Given the description of an element on the screen output the (x, y) to click on. 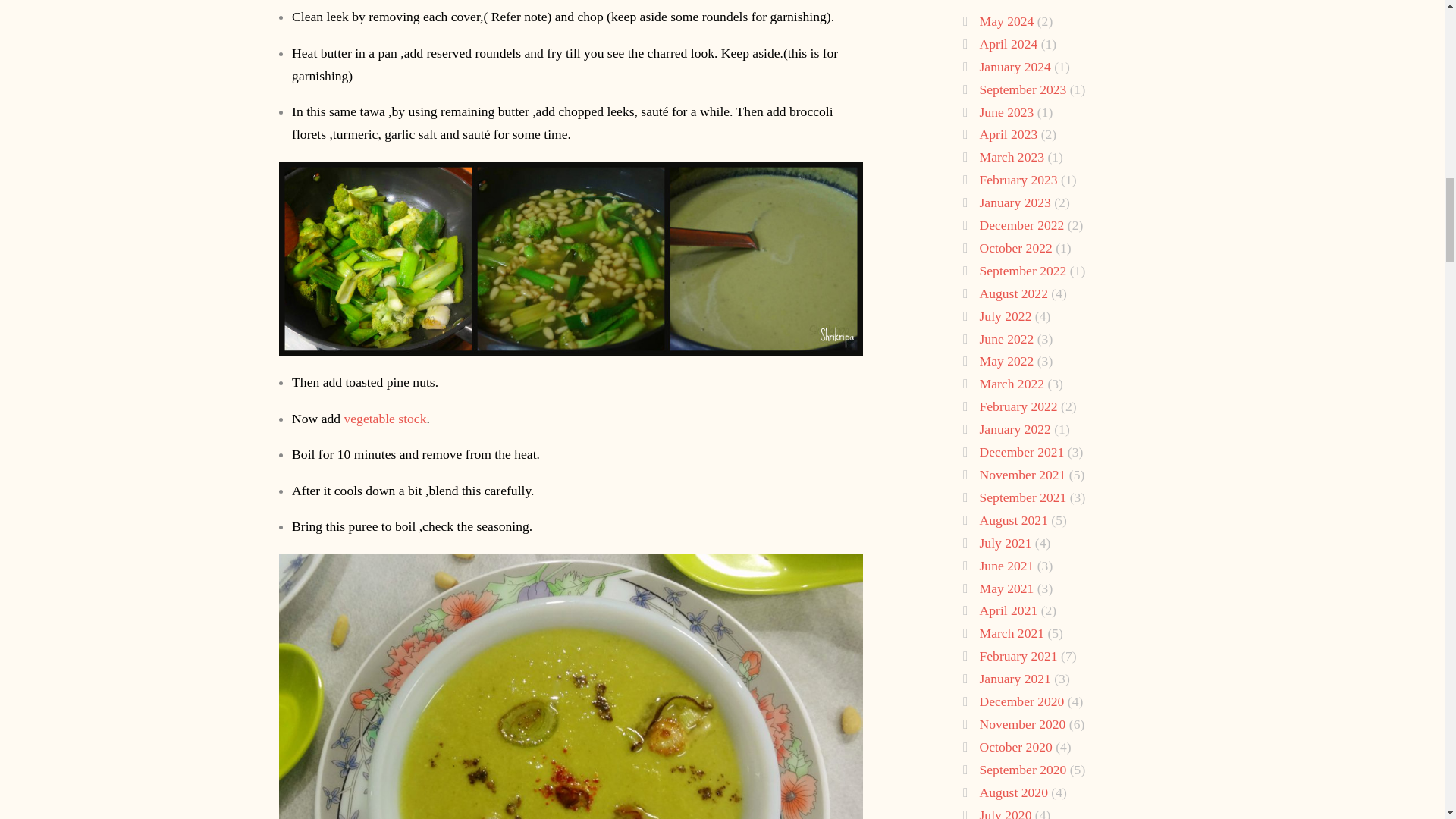
April 2023 (1008, 133)
February 2023 (1018, 179)
June 2023 (1006, 111)
September 2022 (1023, 270)
May 2024 (1006, 20)
April 2024 (1008, 43)
August 2022 (1013, 293)
September 2023 (1023, 89)
January 2024 (1015, 66)
January 2023 (1015, 201)
October 2022 (1015, 247)
December 2022 (1021, 224)
March 2023 (1012, 156)
vegetable stock (384, 418)
